Given the description of an element on the screen output the (x, y) to click on. 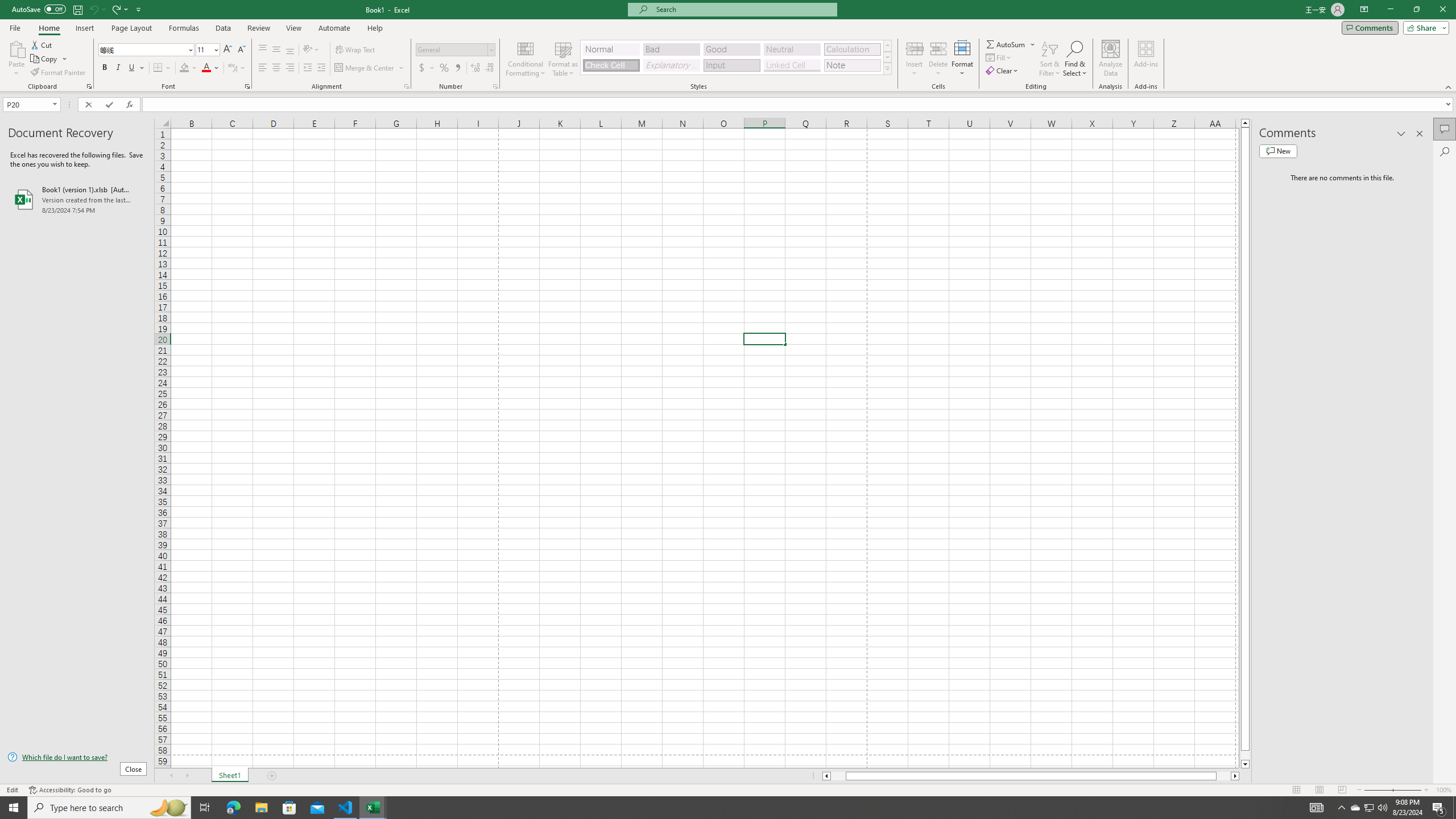
Number Format (455, 49)
Linked Cell (791, 65)
Paste (16, 58)
Align Left (262, 67)
Font Color RGB(255, 0, 0) (206, 67)
Delete (938, 58)
Format Cell Number (494, 85)
